Given the description of an element on the screen output the (x, y) to click on. 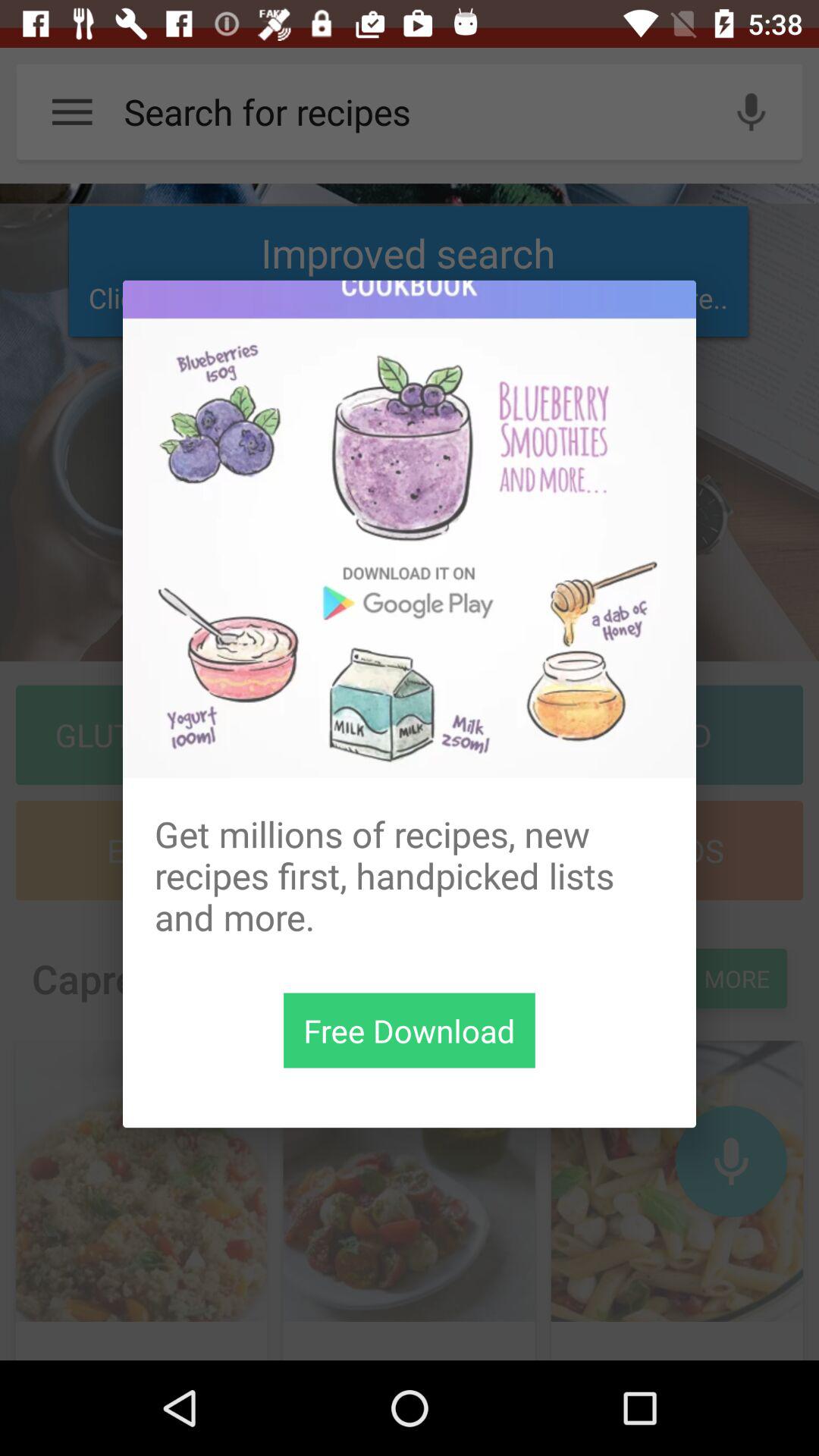
download button (409, 1030)
